Given the description of an element on the screen output the (x, y) to click on. 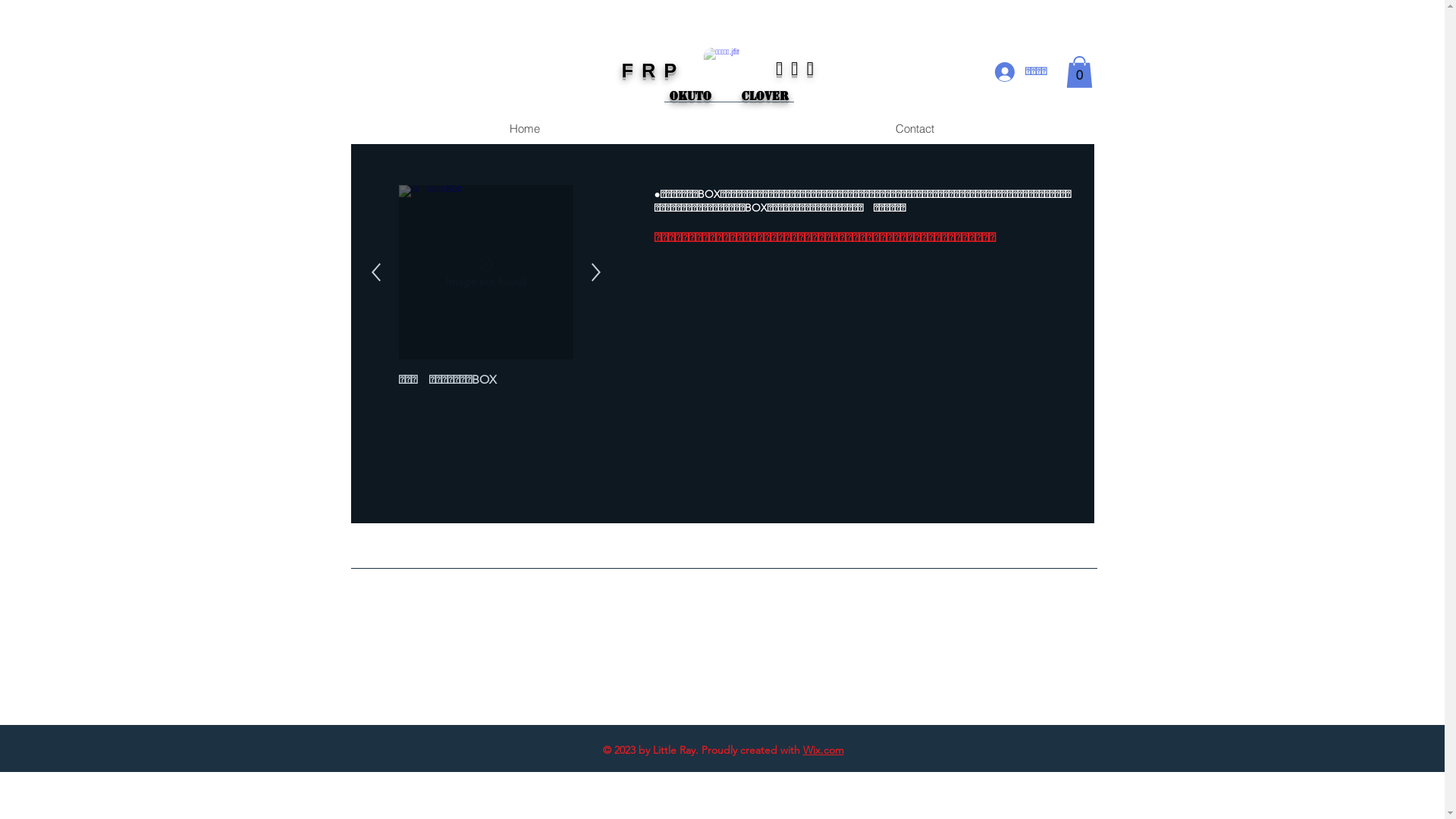
Home Element type: text (524, 128)
FRP Element type: text (653, 70)
Wix.com Element type: text (822, 749)
0 Element type: text (1079, 71)
Contact Element type: text (914, 128)
